Given the description of an element on the screen output the (x, y) to click on. 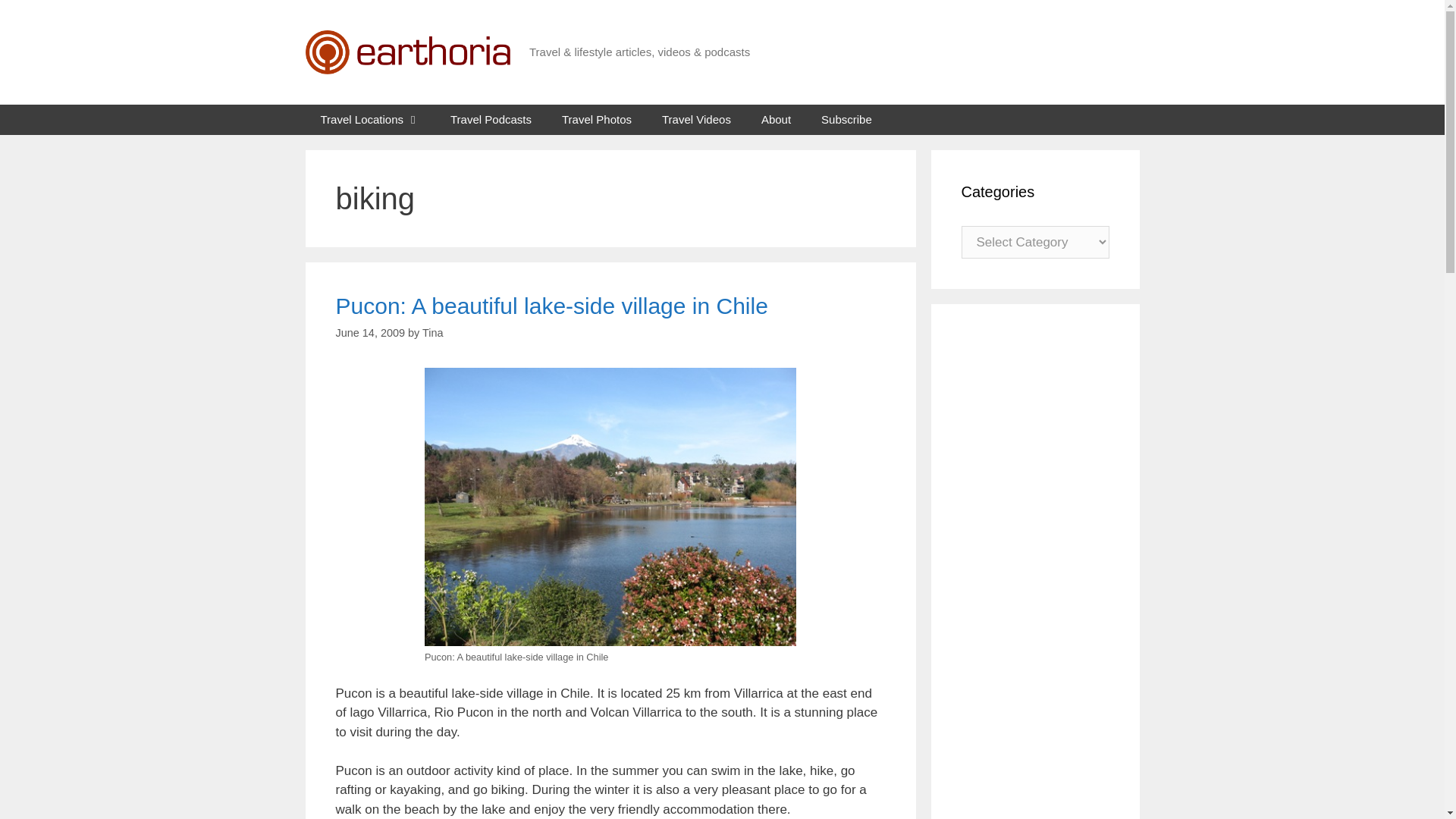
View all posts by Tina (433, 332)
Earthoria (406, 52)
Pucon: A beautiful lake-side village in Chile (550, 305)
Travel Photos (596, 119)
Travel Videos (695, 119)
Travel Podcasts (491, 119)
8:00 am (369, 332)
Travel Locations (369, 119)
Earthoria (406, 51)
About (775, 119)
